Given the description of an element on the screen output the (x, y) to click on. 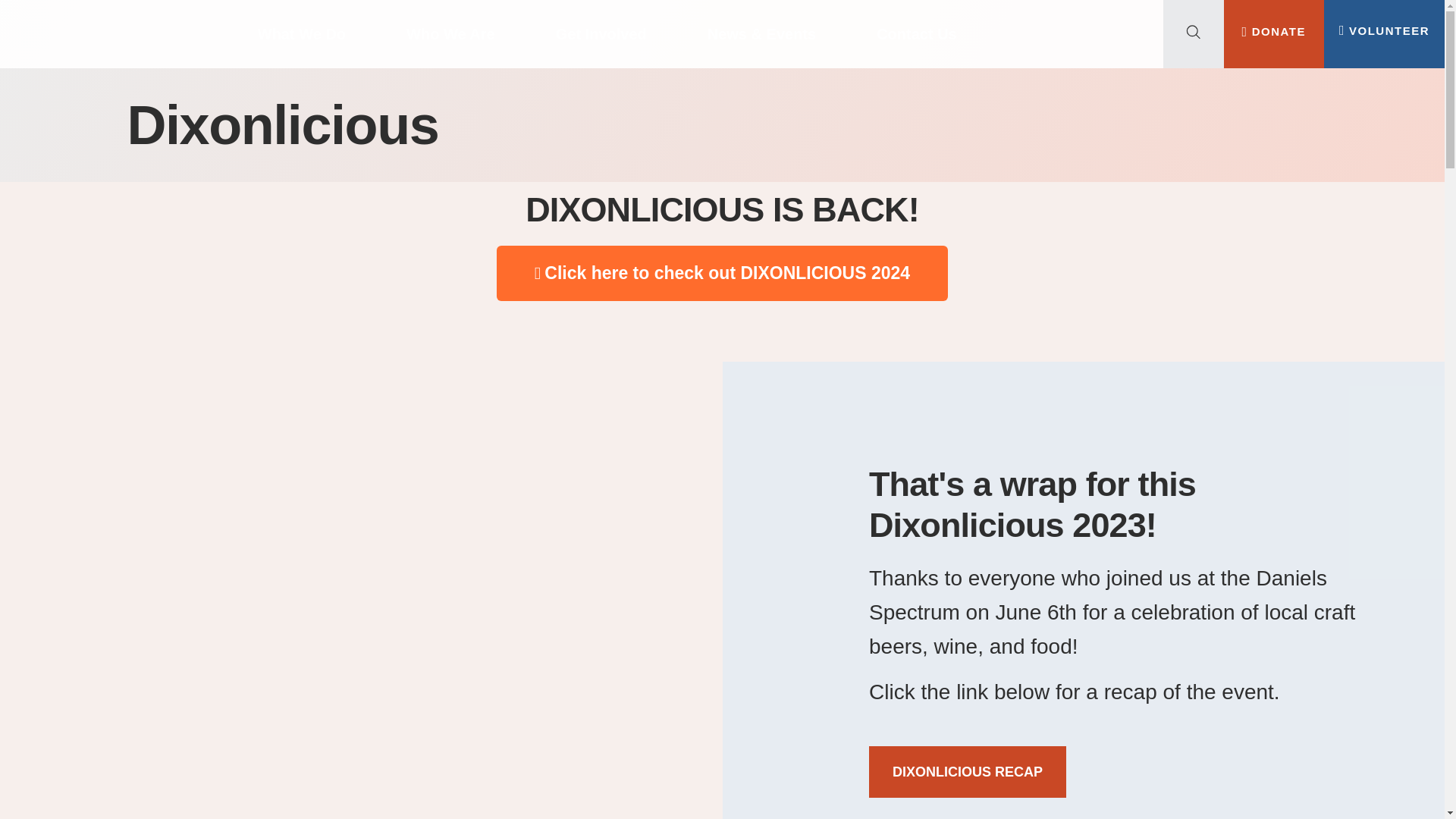
Who We Are (450, 33)
What We Do (301, 33)
DONATE (1273, 30)
Contact Us (916, 33)
Get Involved (601, 33)
